Given the description of an element on the screen output the (x, y) to click on. 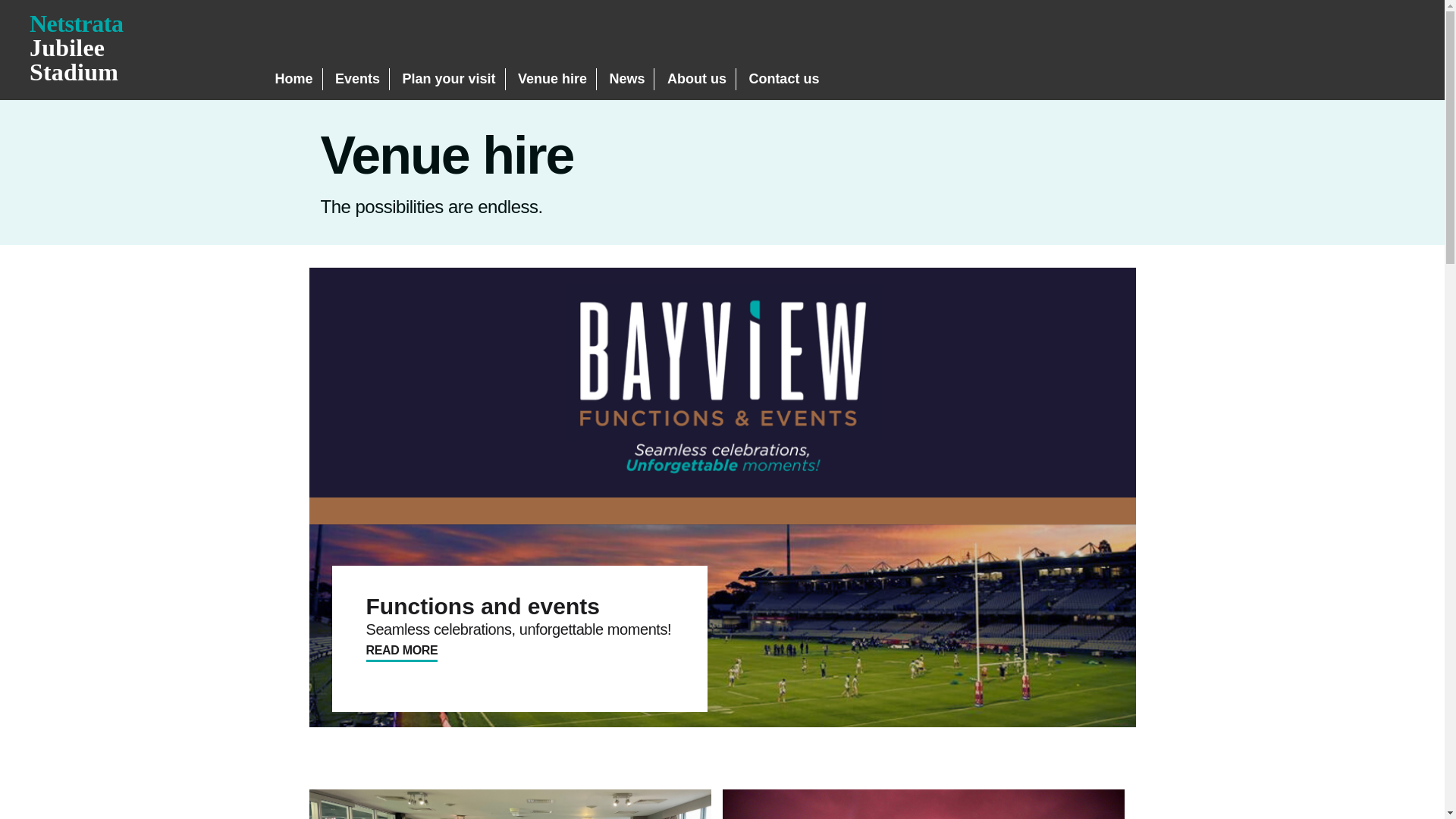
READ MORE (401, 650)
Home (294, 78)
Plan your visit (448, 78)
News (626, 78)
Events (357, 78)
About us (696, 78)
Venue hire (552, 78)
Contact us (75, 47)
